Given the description of an element on the screen output the (x, y) to click on. 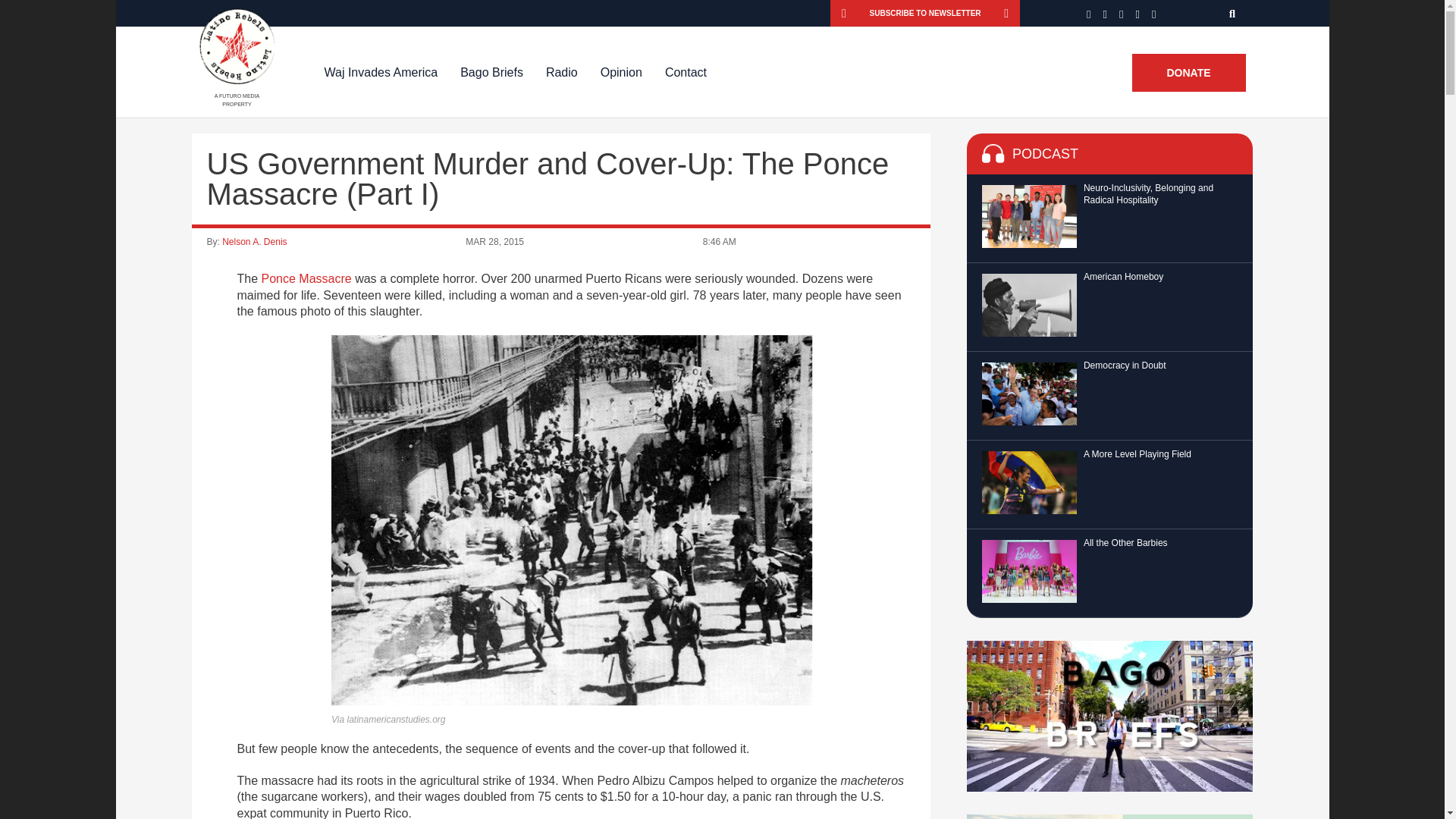
Nelson A. Denis (254, 241)
Search (1233, 13)
Search (1233, 13)
Ponce Massacre (307, 278)
Remembering La Masacre de Ponce (307, 278)
Bago Briefs (491, 72)
Waj Invades America (380, 72)
DONATE (1187, 72)
Posts by Nelson A. Denis (254, 241)
Subscribe to newsletter (924, 13)
Search (1233, 13)
